Given the description of an element on the screen output the (x, y) to click on. 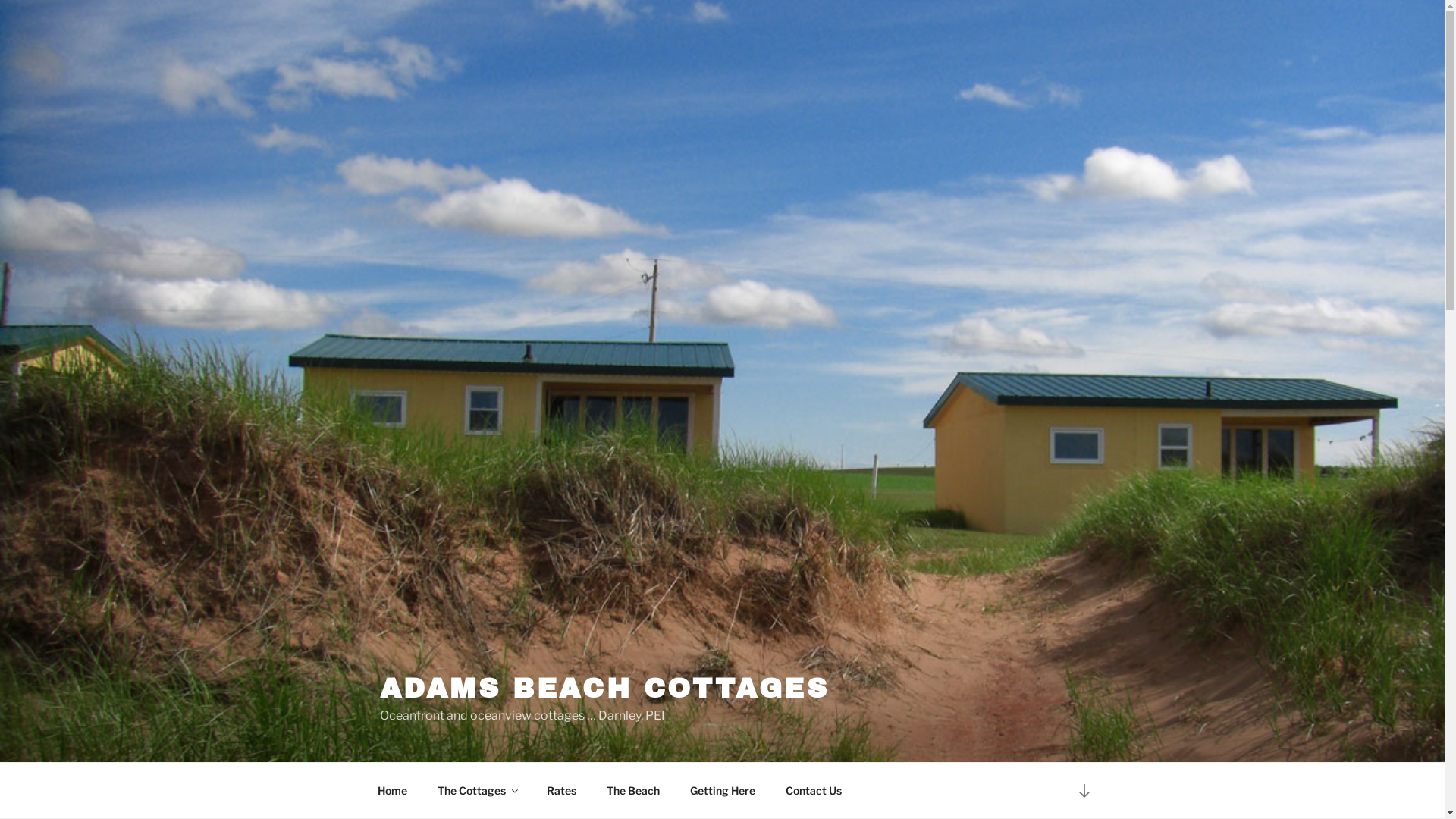
Contact Us Element type: text (812, 789)
Getting Here Element type: text (722, 789)
Rates Element type: text (561, 789)
Scroll down to content Element type: text (1083, 789)
ADAMS BEACH COTTAGES Element type: text (603, 688)
Home Element type: text (392, 789)
The Beach Element type: text (632, 789)
The Cottages Element type: text (477, 789)
